Given the description of an element on the screen output the (x, y) to click on. 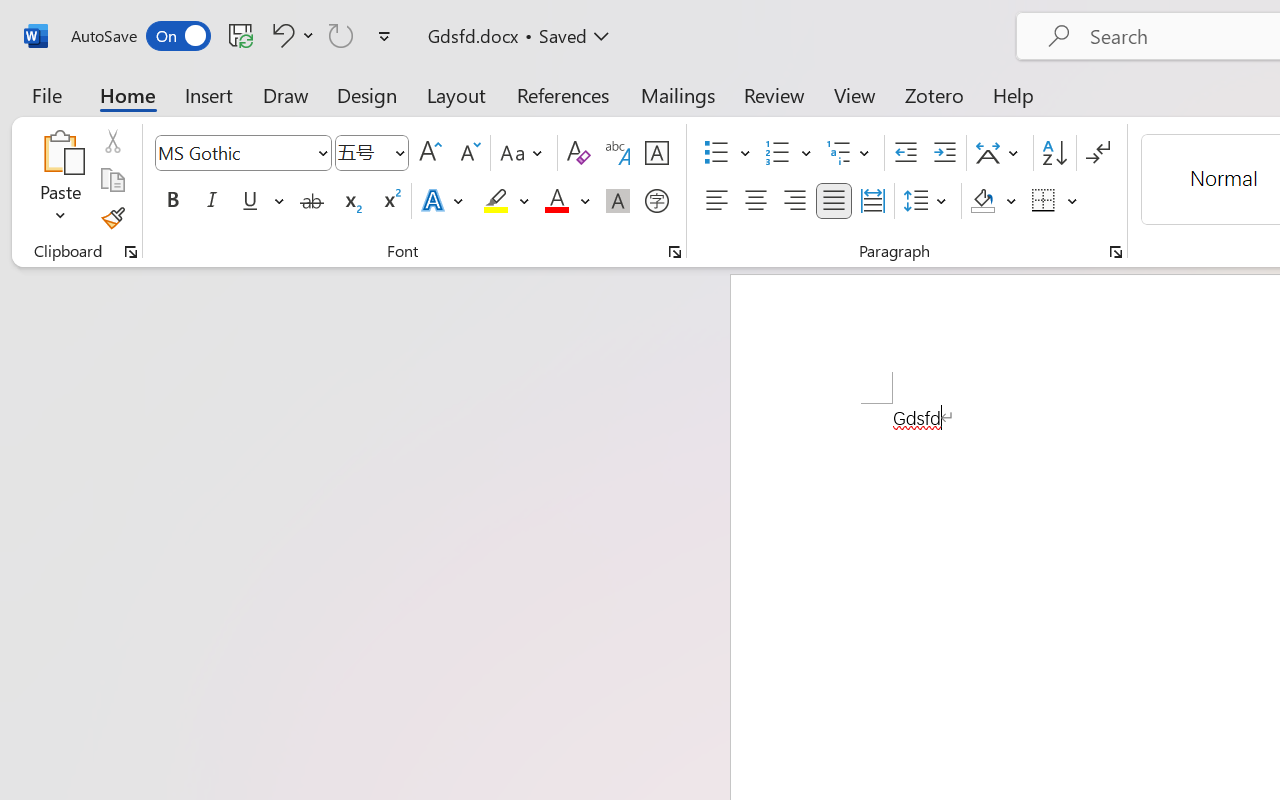
Multilevel List (850, 153)
